Given the description of an element on the screen output the (x, y) to click on. 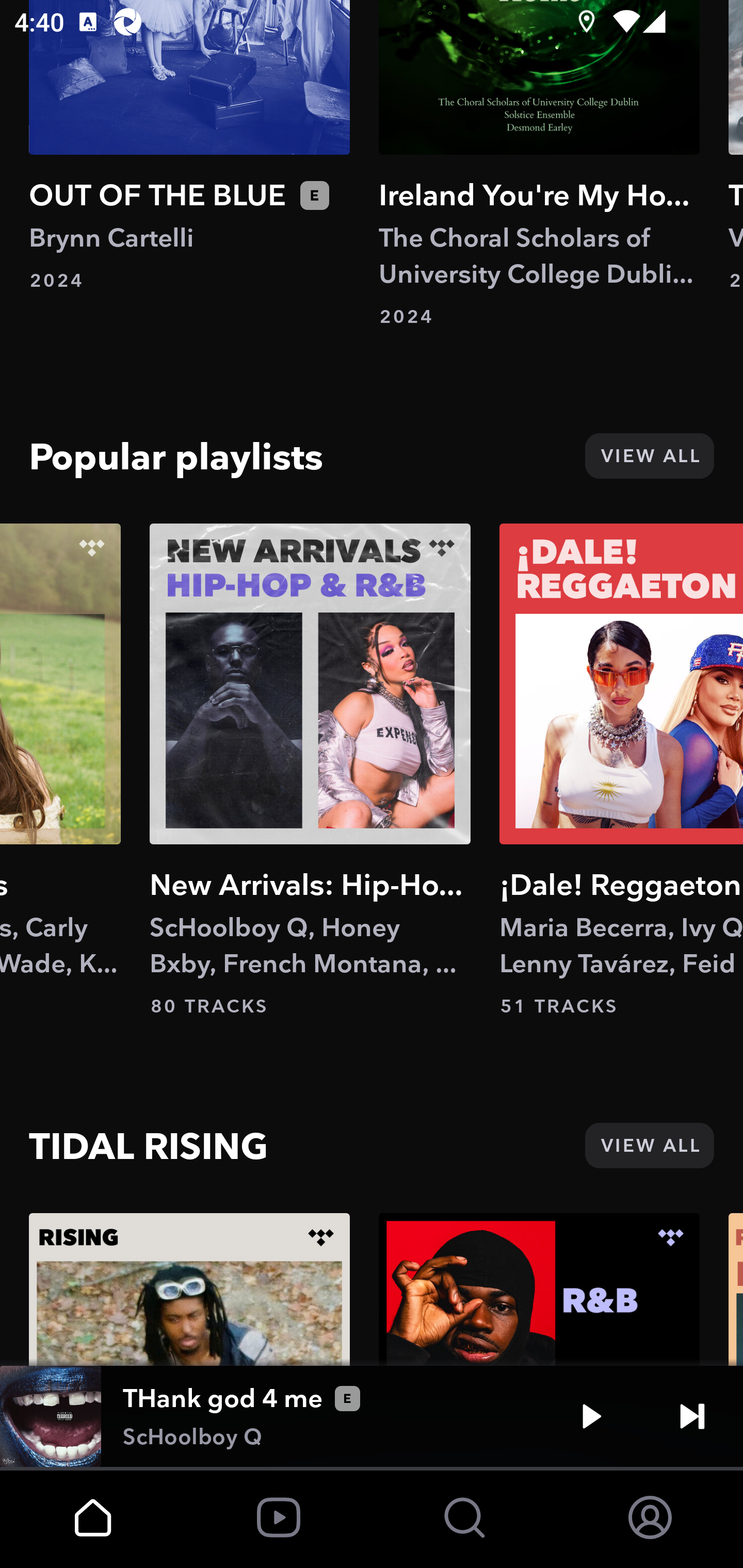
OUT OF THE BLUE Brynn Cartelli 2024 (188, 146)
VIEW ALL (649, 455)
VIEW ALL (649, 1145)
THank god 4 me    ScHoolboy Q Play (371, 1416)
Play (590, 1416)
